Given the description of an element on the screen output the (x, y) to click on. 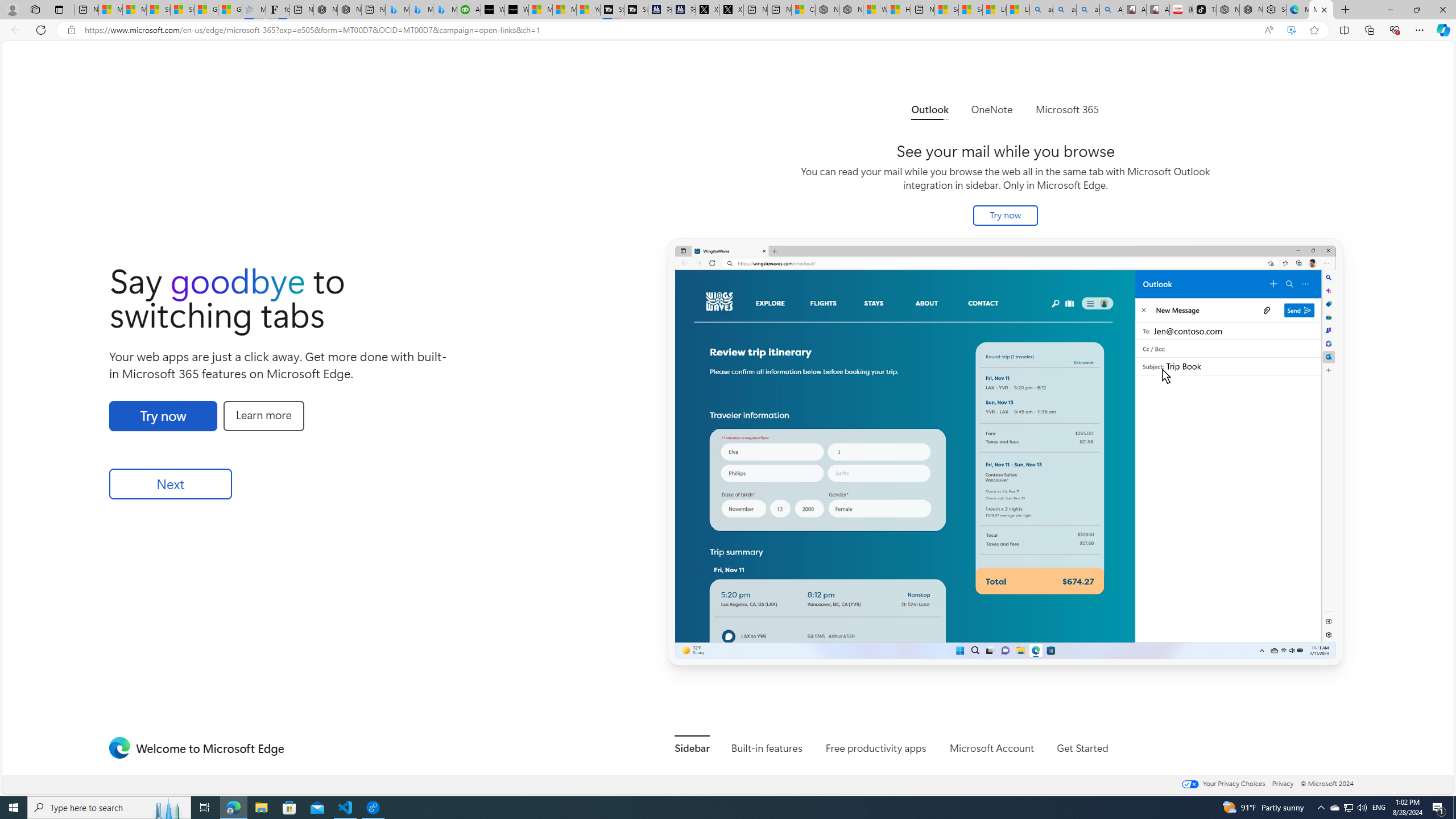
amazon - Search Images (1088, 9)
Amazon Echo Robot - Search Images (1111, 9)
